Given the description of an element on the screen output the (x, y) to click on. 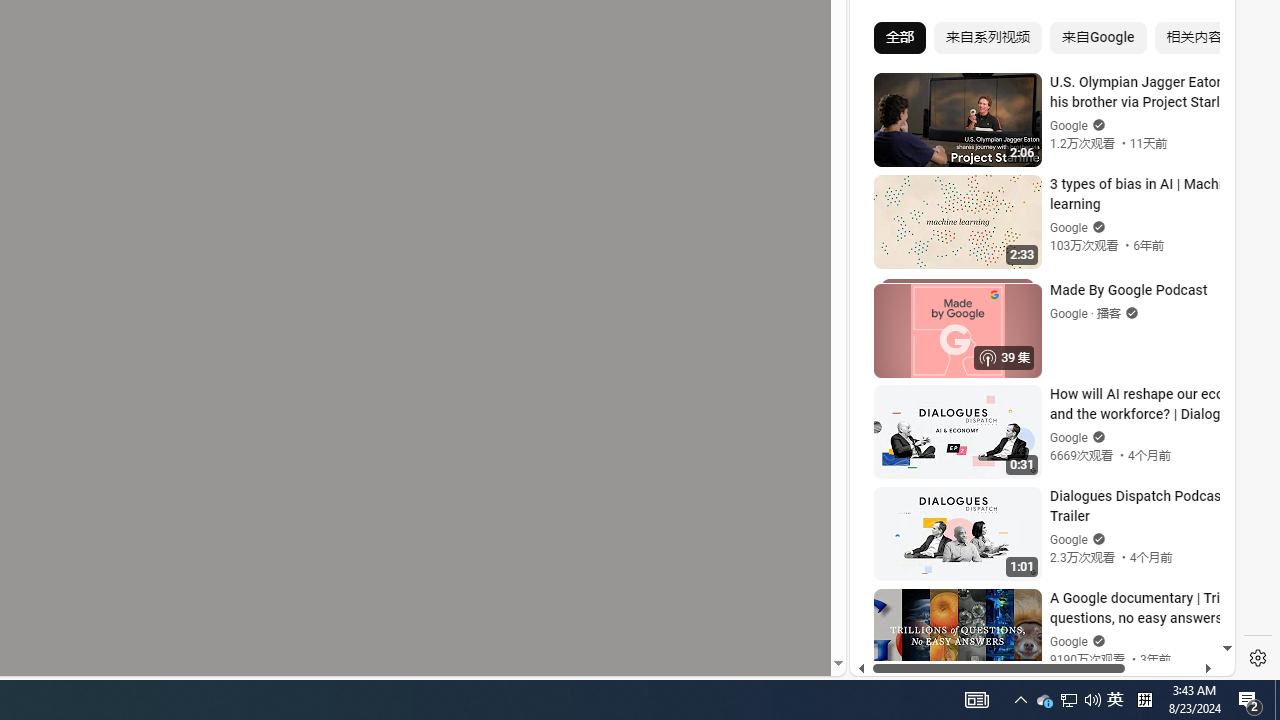
US[ju] (917, 660)
Class: dict_pnIcon rms_img (1028, 660)
you (1034, 609)
YouTube - YouTube (1034, 266)
